Given the description of an element on the screen output the (x, y) to click on. 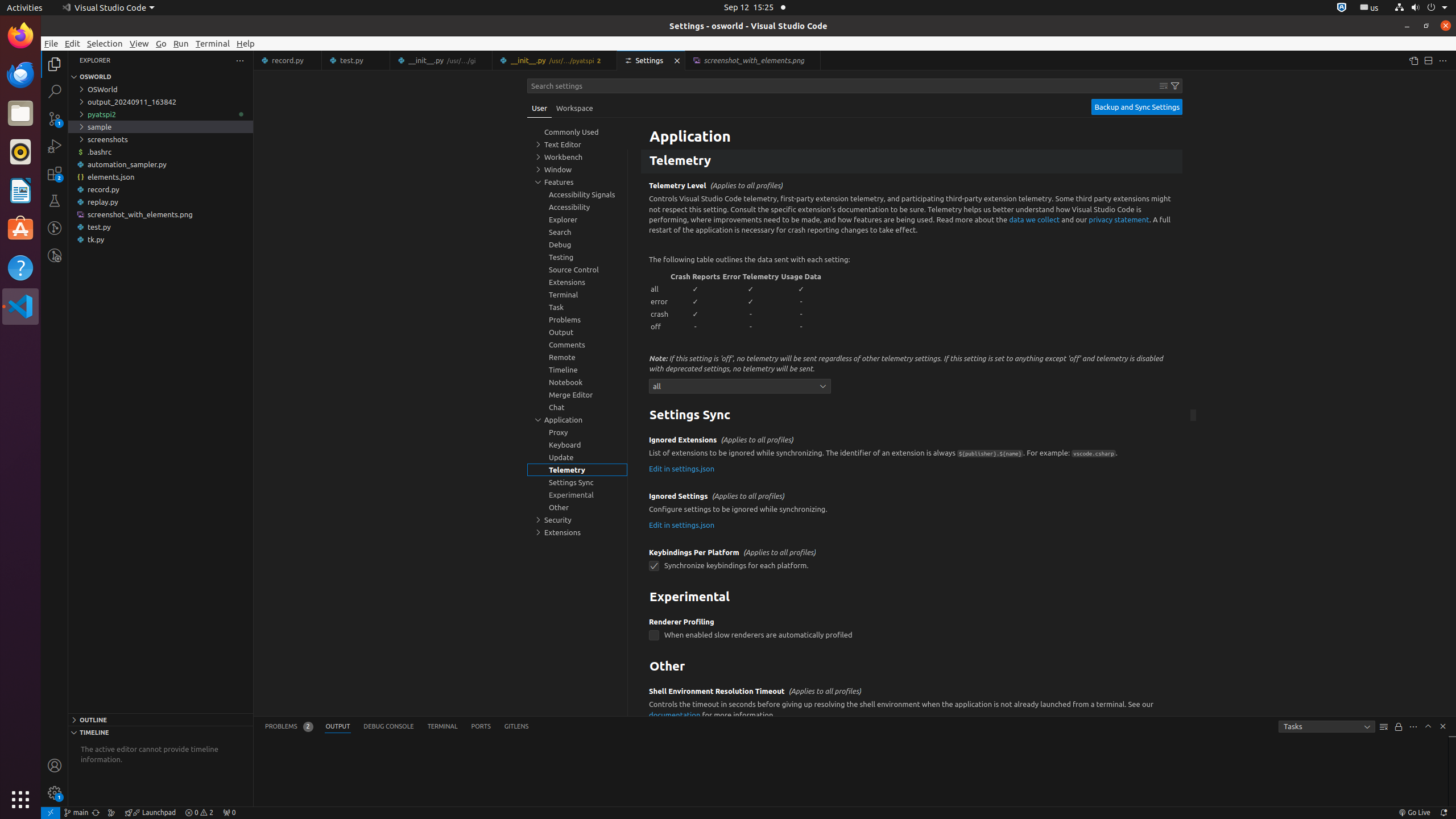
automation_sampler.py Element type: tree-item (160, 164)
sample Element type: tree-item (160, 126)
Output (Ctrl+K Ctrl+H) Element type: page-tab (337, 726)
update.showReleaseNotes Element type: check-box (653, 129)
OSWorld Element type: tree-item (160, 89)
